Given the description of an element on the screen output the (x, y) to click on. 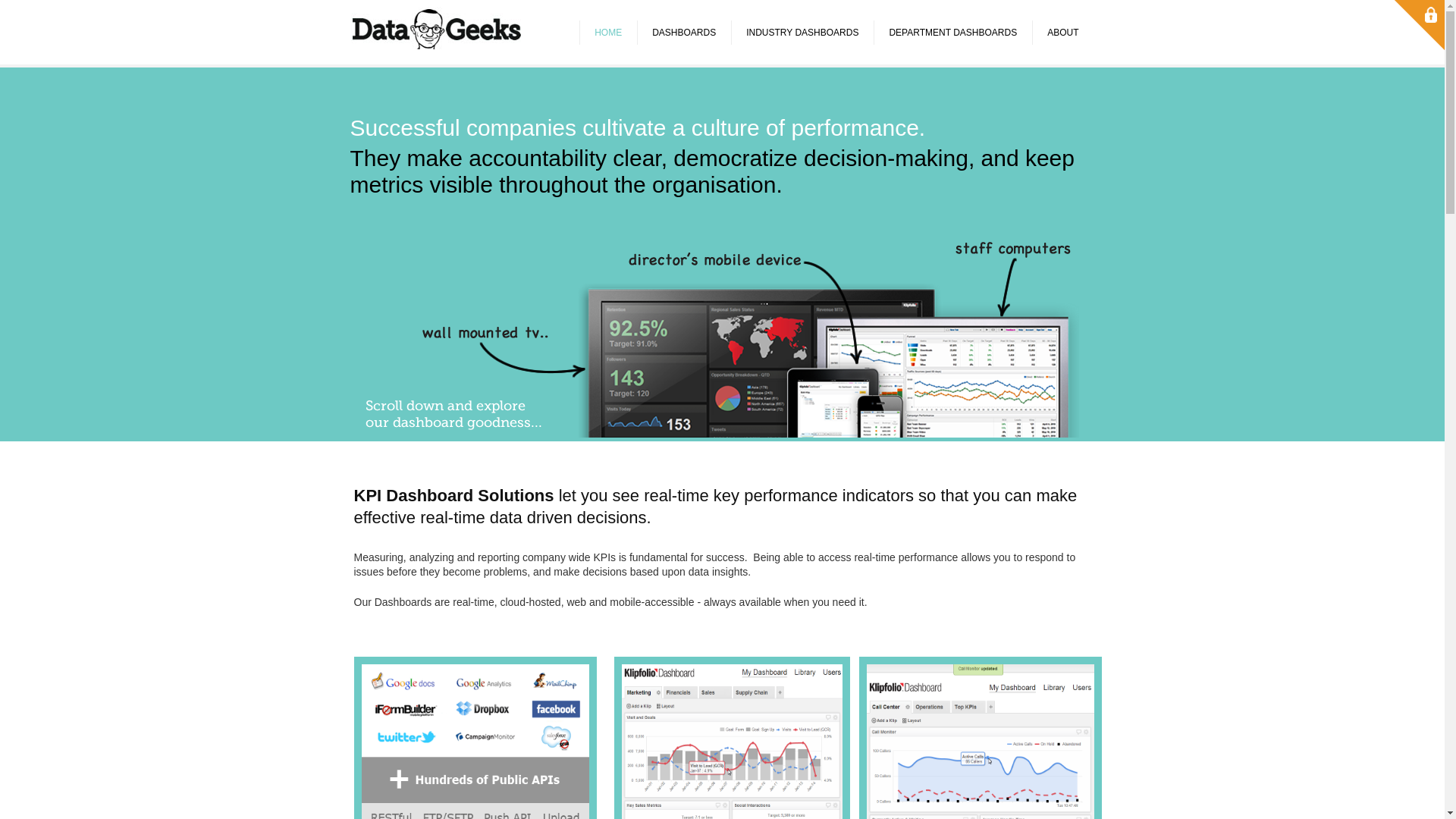
HOME Element type: text (608, 31)
Go to site home page Element type: hover (437, 29)
DEPARTMENT DASHBOARDS Element type: text (952, 31)
Go to site home page Element type: hover (444, 31)
INDUSTRY DASHBOARDS Element type: text (802, 31)
DASHBOARDS Element type: text (684, 31)
ABOUT Element type: text (1062, 31)
